Given the description of an element on the screen output the (x, y) to click on. 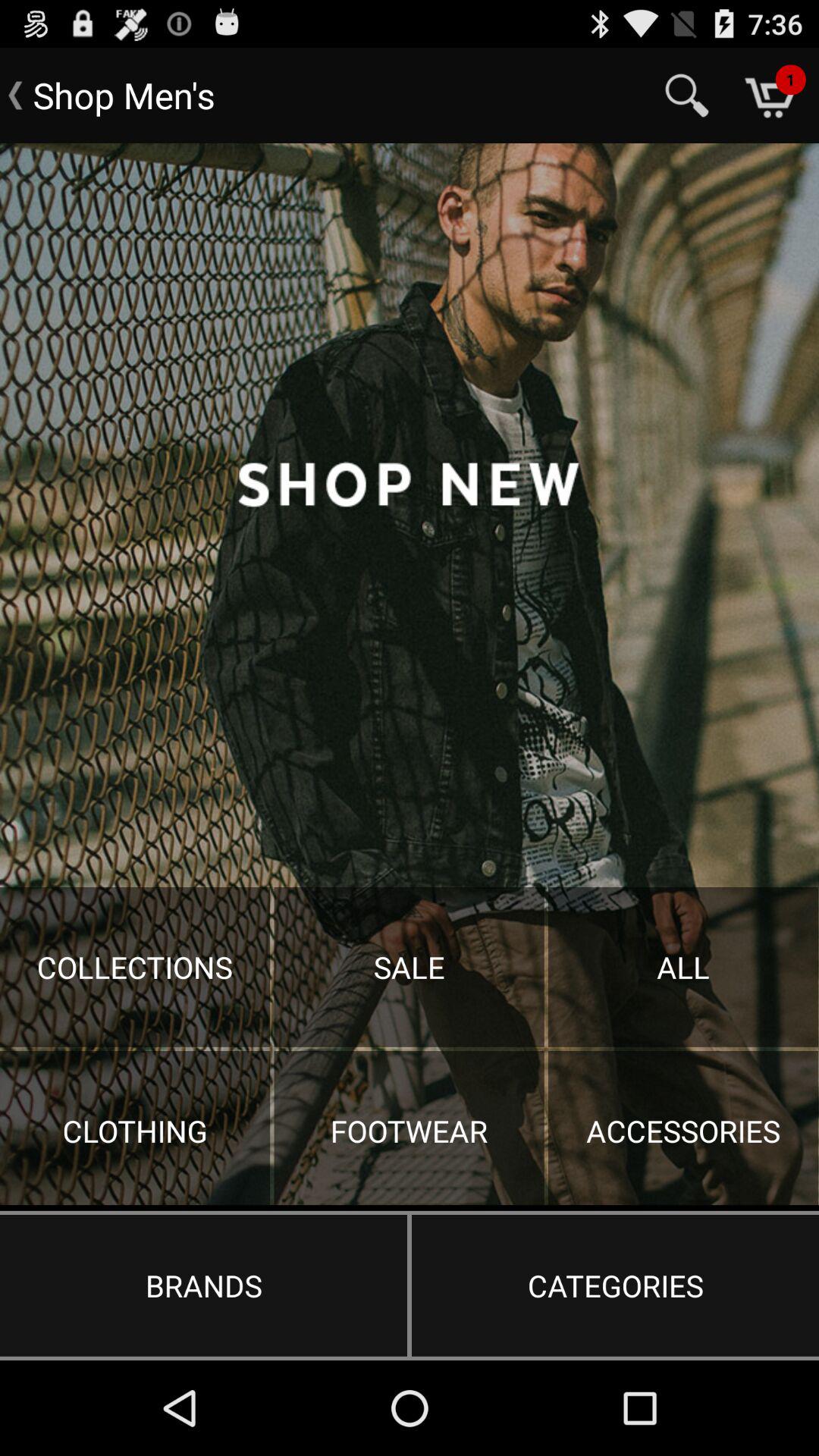
tap the button above the brands item (409, 674)
